Given the description of an element on the screen output the (x, y) to click on. 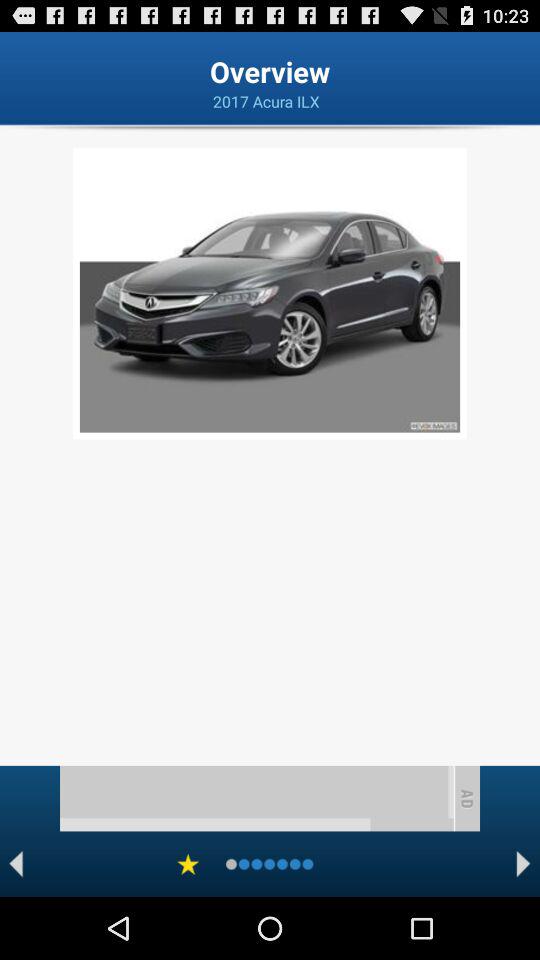
view advertisement (256, 798)
